Given the description of an element on the screen output the (x, y) to click on. 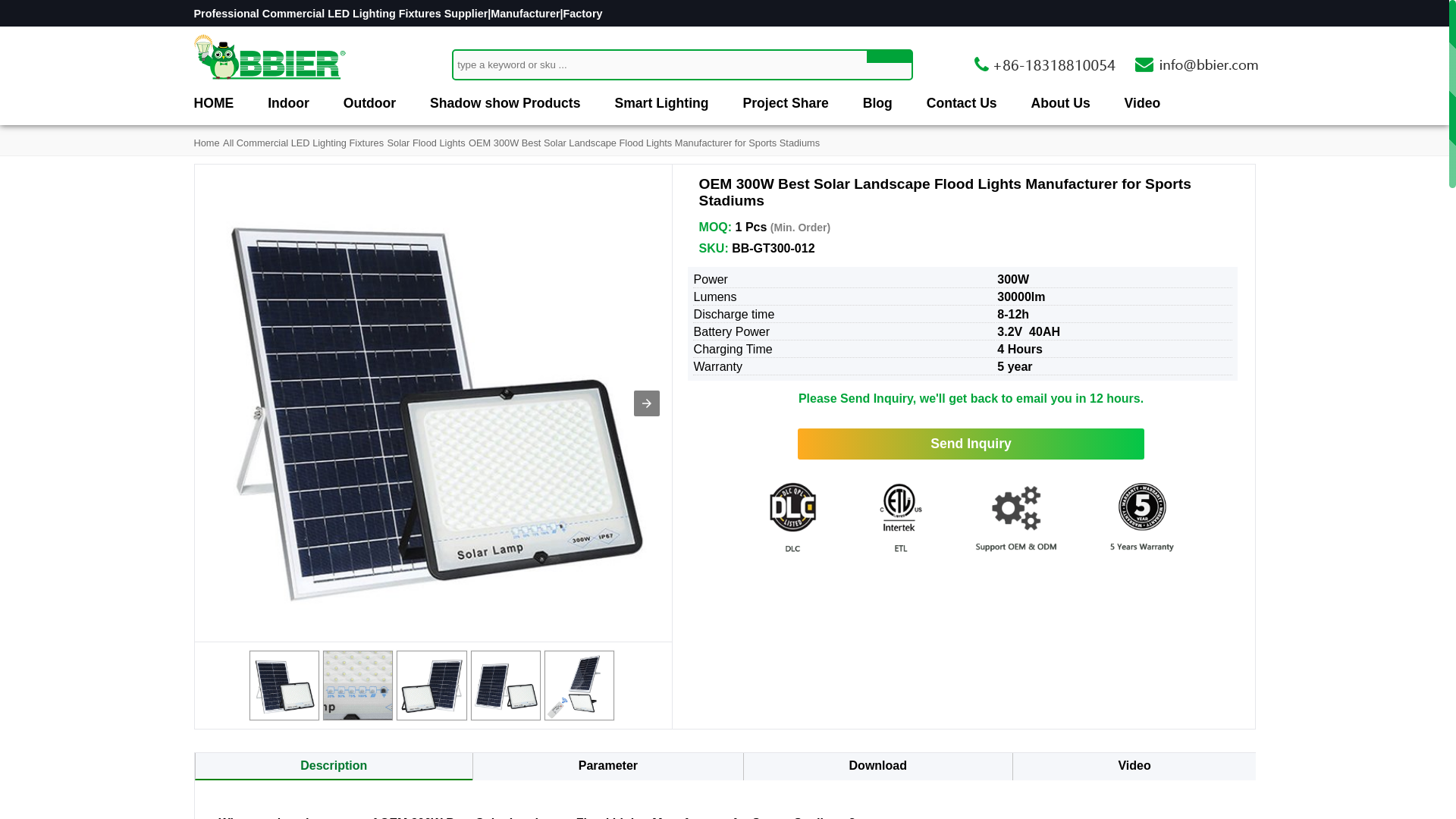
Go to Home Page (206, 142)
HOME (213, 103)
Indoor (287, 103)
Outdoor (369, 103)
